Given the description of an element on the screen output the (x, y) to click on. 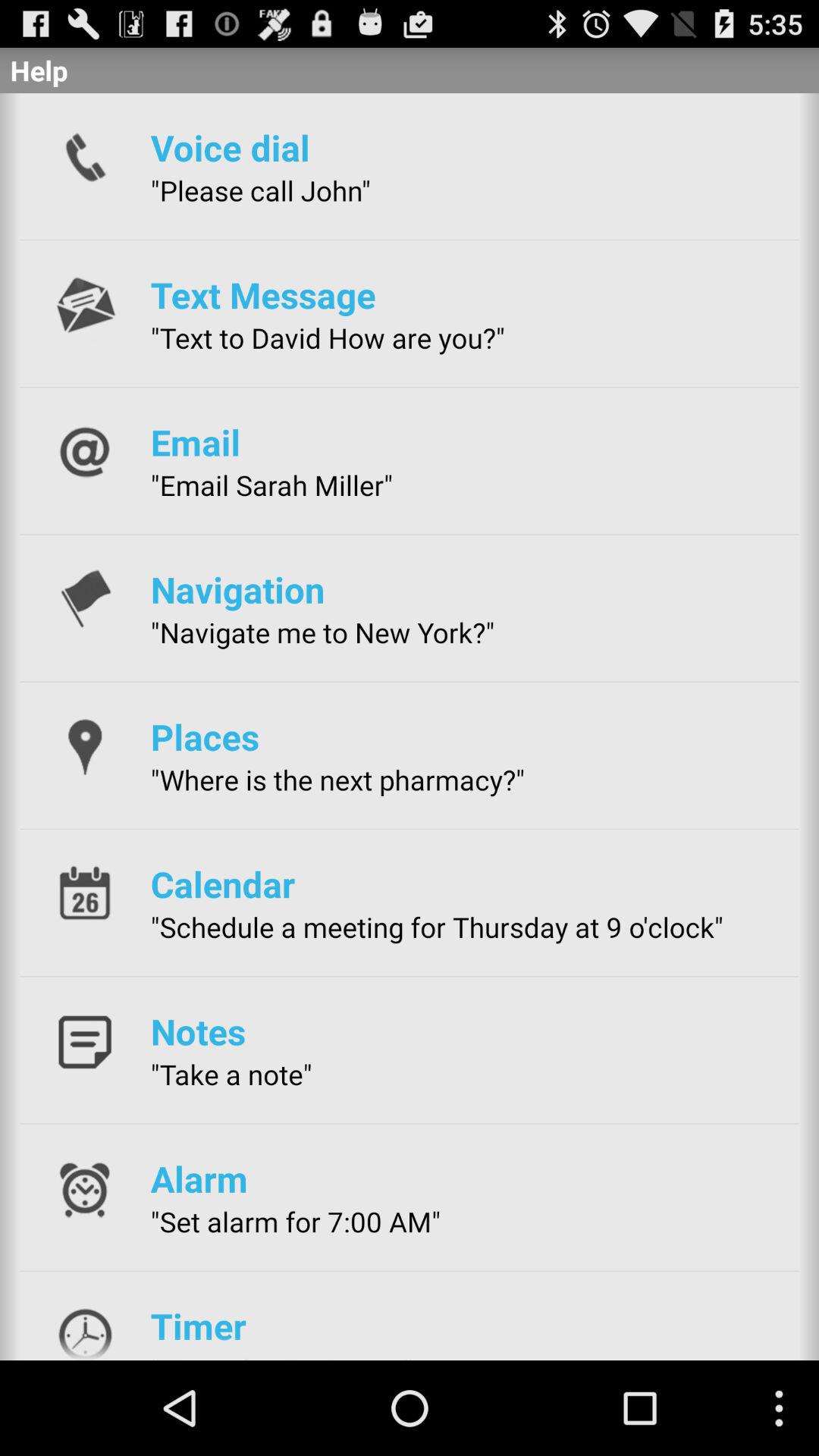
turn on app above "take a note" app (197, 1031)
